Given the description of an element on the screen output the (x, y) to click on. 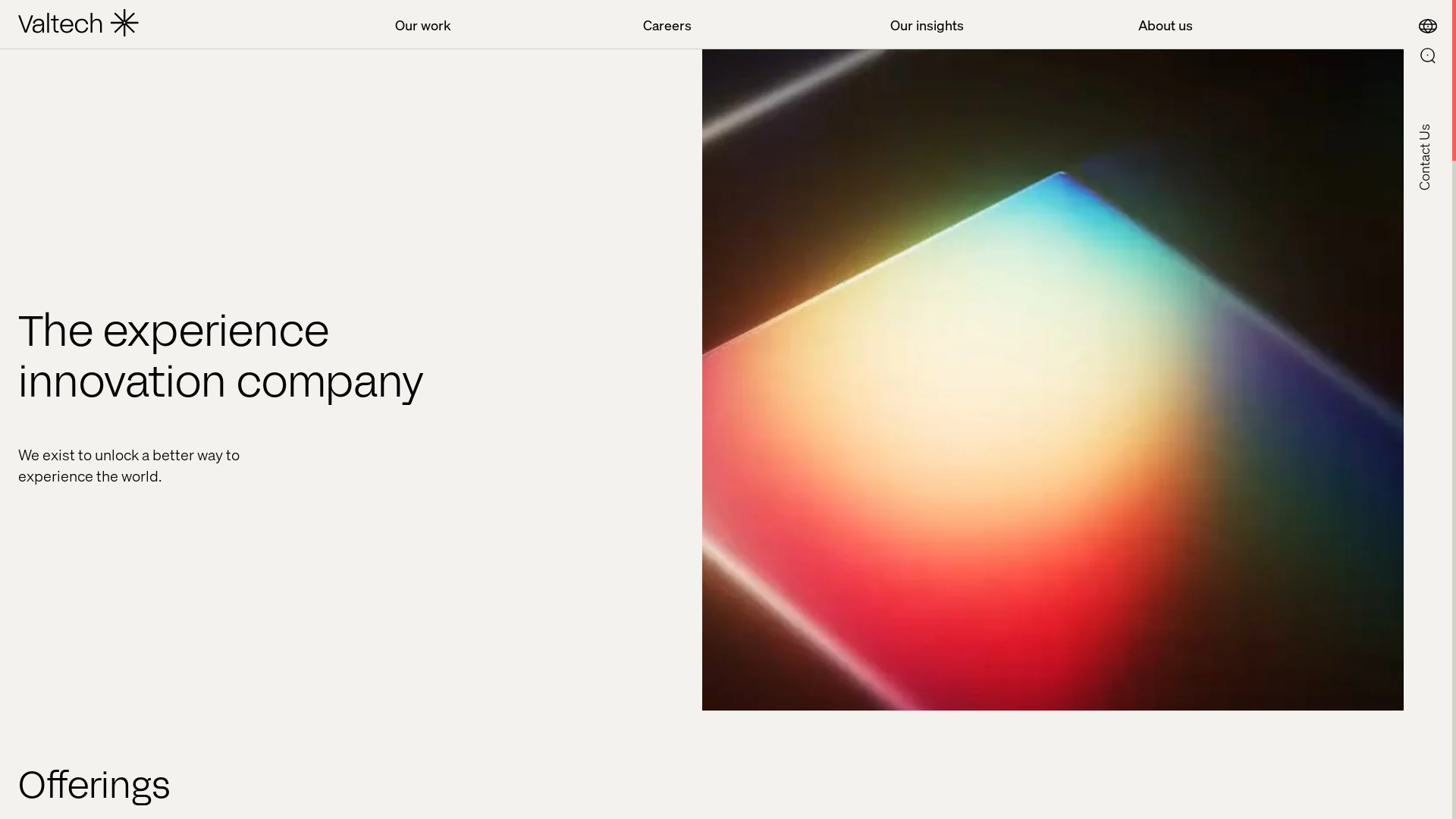
Our work Element type: text (508, 24)
About us Element type: text (1251, 24)
Our insights Element type: text (1003, 24)
Valtech The Experience Innovation Company Element type: text (78, 24)
Careers Element type: text (756, 24)
